Given the description of an element on the screen output the (x, y) to click on. 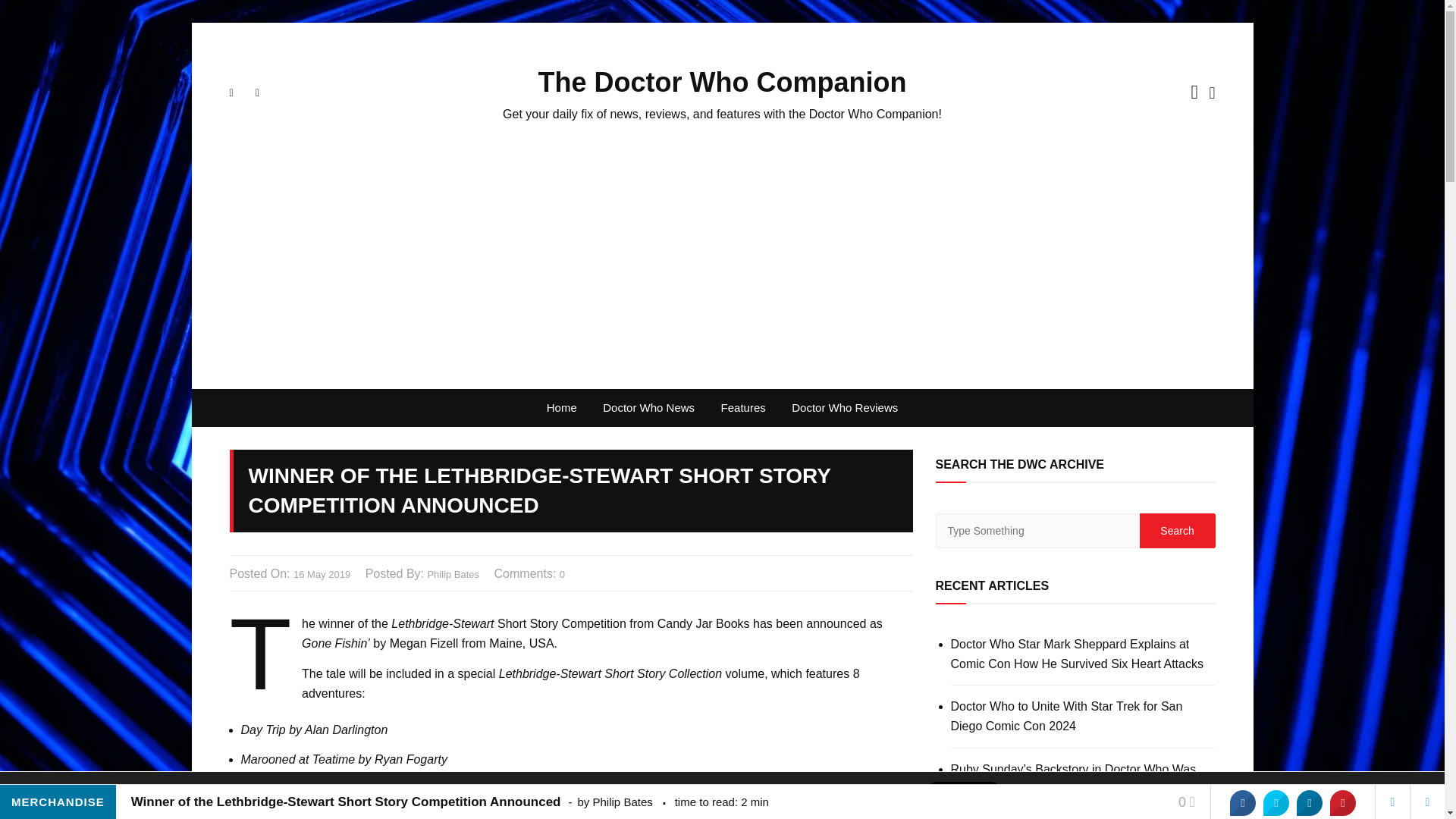
Home (561, 407)
The Doctor Who Companion (722, 81)
Doctor Who News (648, 407)
Features (743, 407)
Doctor Who Reviews (844, 407)
Search (1176, 530)
